Given the description of an element on the screen output the (x, y) to click on. 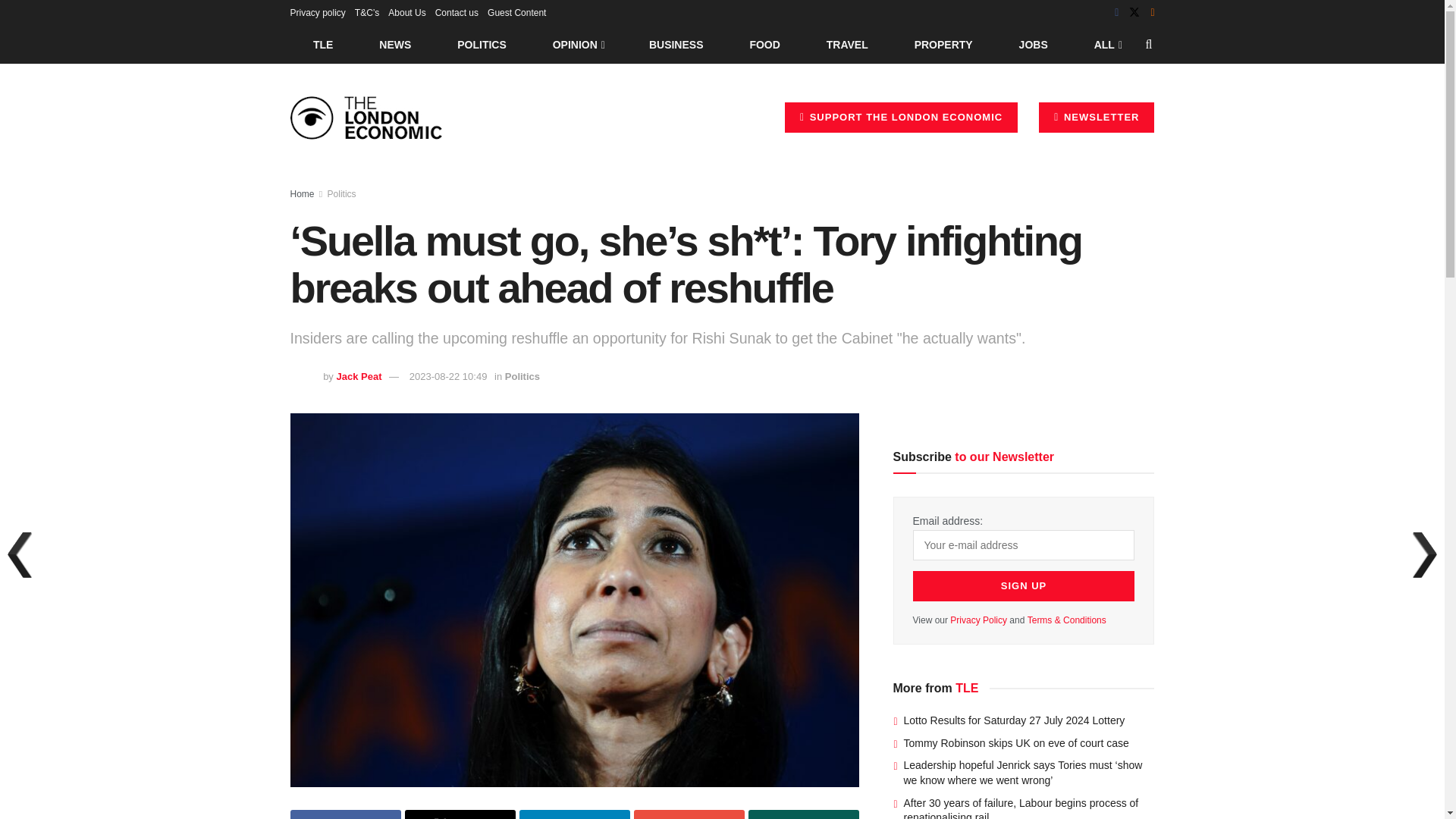
About Us (406, 12)
BUSINESS (676, 44)
TLE (322, 44)
FOOD (764, 44)
ALL (1106, 44)
Home (301, 194)
JOBS (1032, 44)
TRAVEL (847, 44)
NEWSLETTER (1096, 117)
OPINION (577, 44)
SUPPORT THE LONDON ECONOMIC (900, 117)
Contact us (457, 12)
Privacy policy (317, 12)
POLITICS (481, 44)
Guest Content (516, 12)
